Given the description of an element on the screen output the (x, y) to click on. 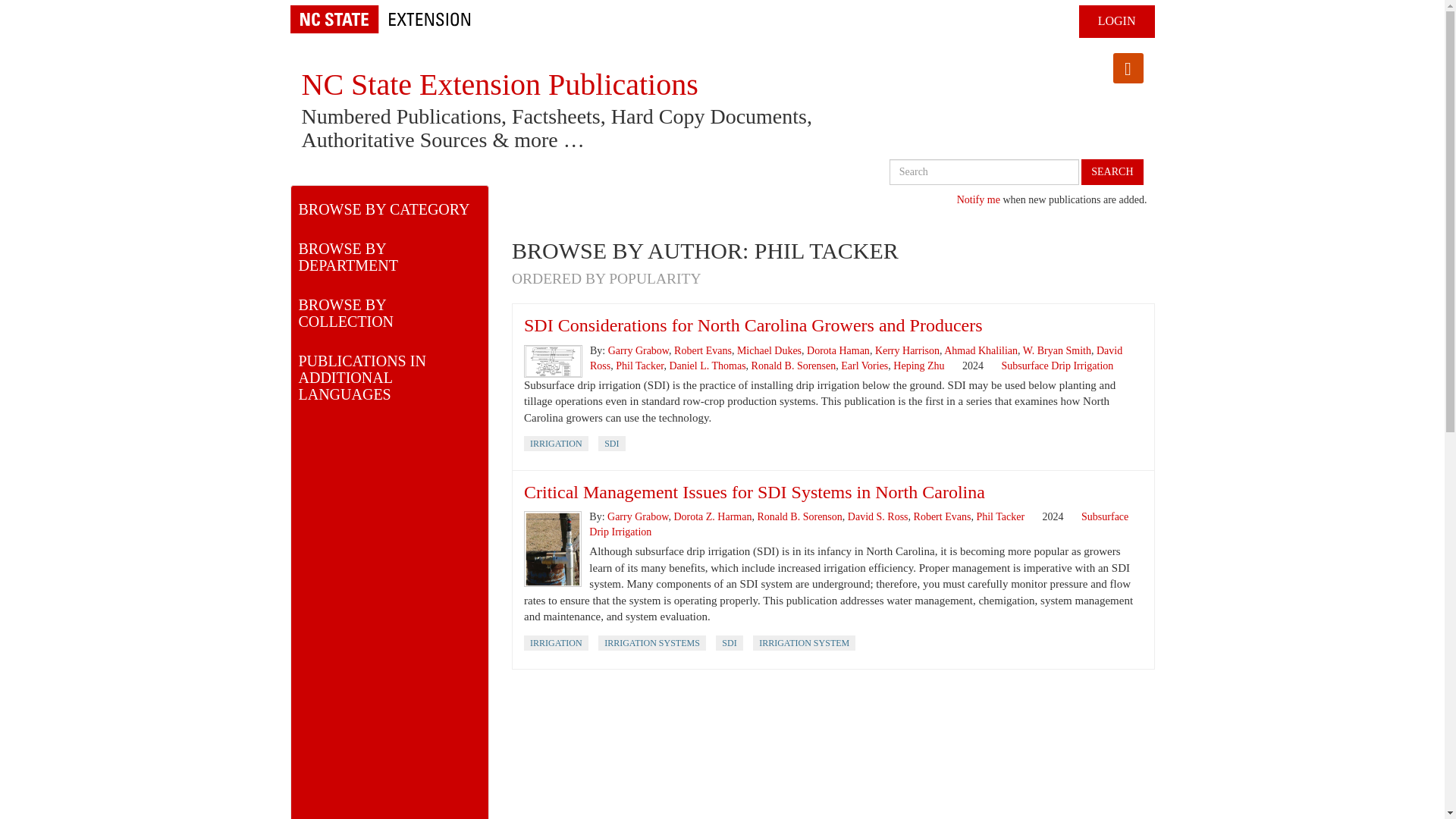
LOGIN (1116, 20)
SEARCH (1111, 171)
NC State Extension Publications (499, 84)
Subscribe to Author: Phil Tacker (1127, 68)
